Given the description of an element on the screen output the (x, y) to click on. 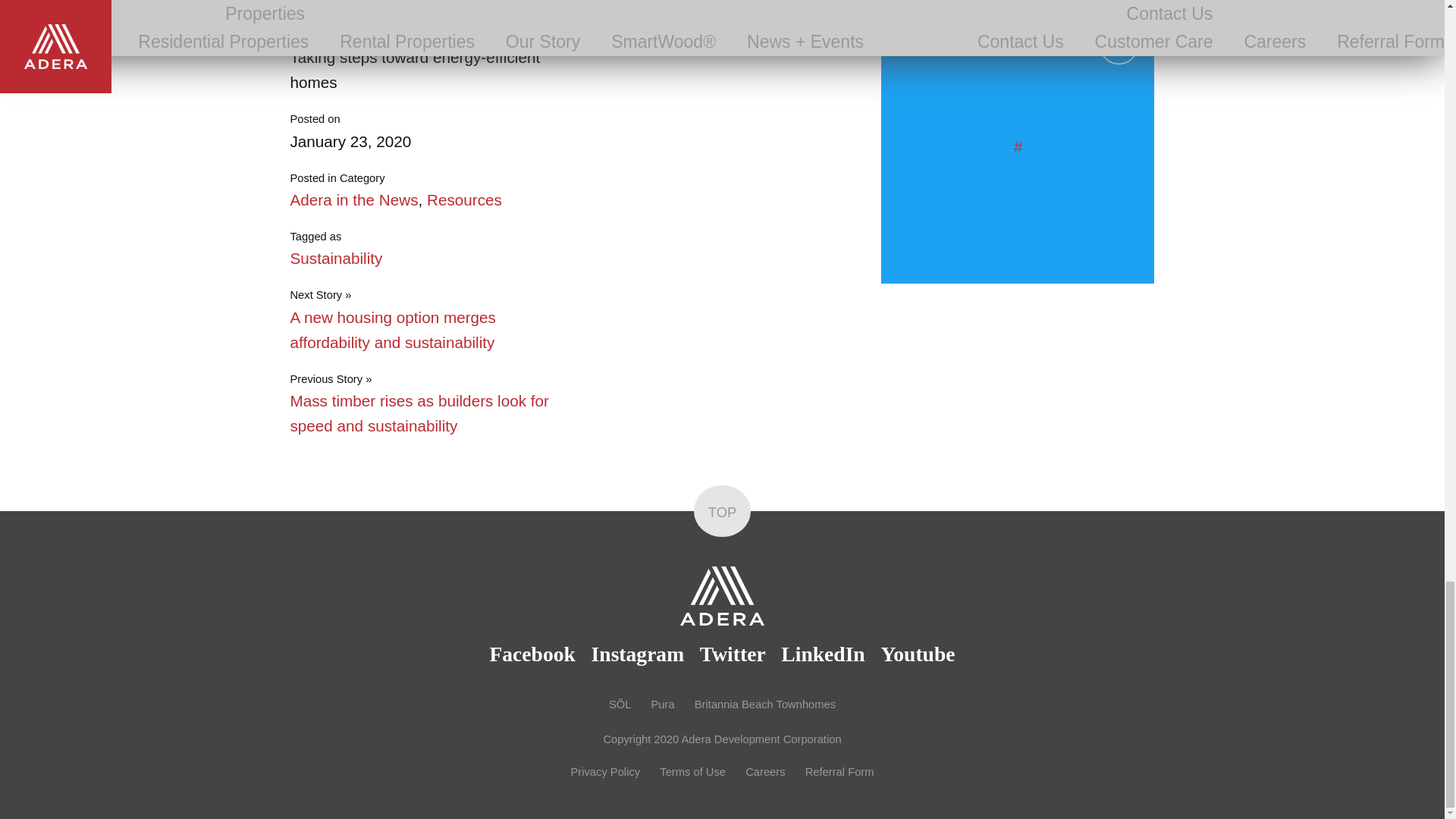
adera-logo-cropped (720, 595)
View all posts in Sustainability (335, 257)
Twitter (379, 24)
View all posts in Adera in the News (353, 199)
View all posts in Resources (464, 199)
LinkedIn (407, 24)
Facebook (350, 24)
